Given the description of an element on the screen output the (x, y) to click on. 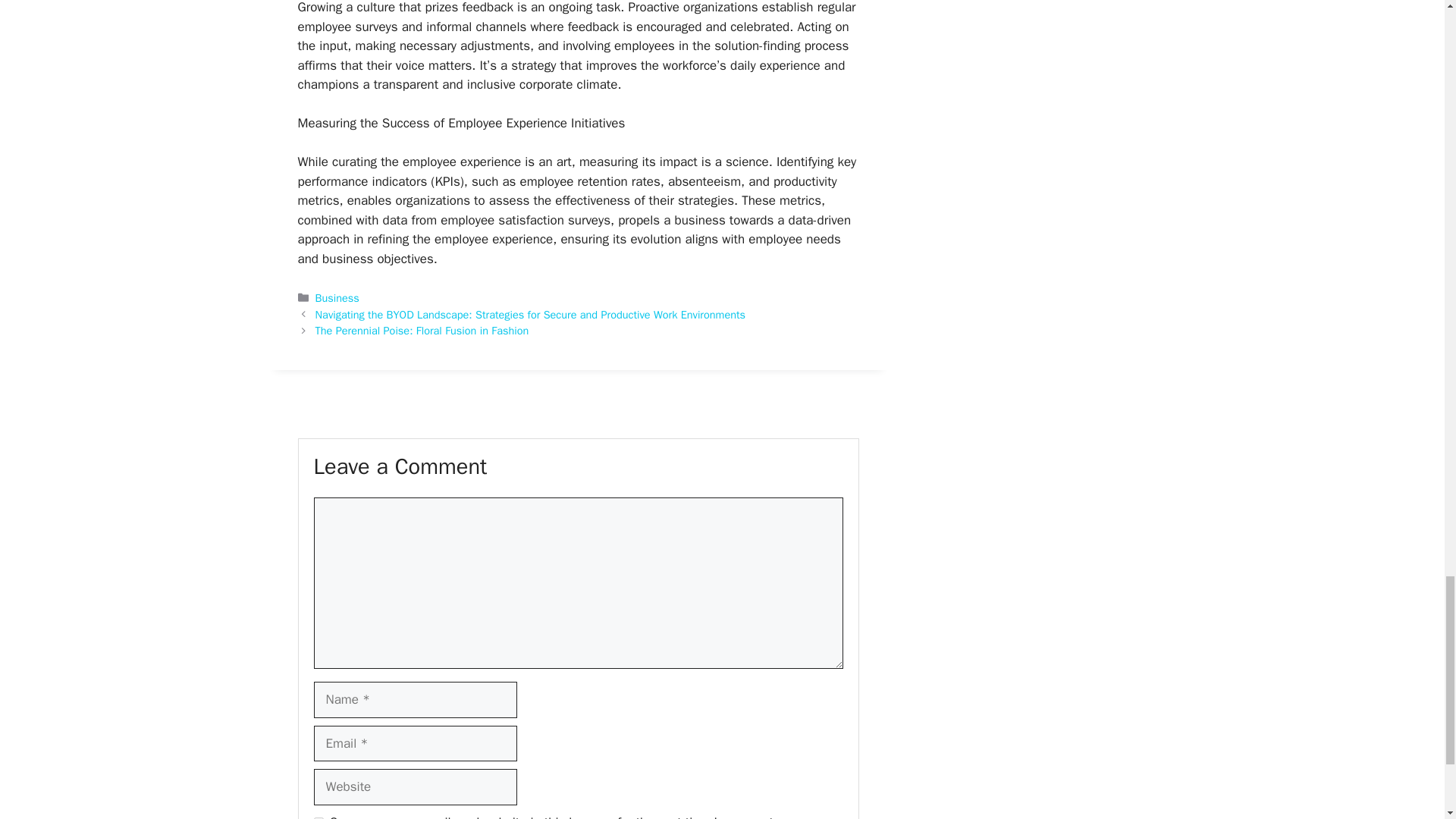
Business (337, 297)
The Perennial Poise: Floral Fusion in Fashion (422, 330)
